Given the description of an element on the screen output the (x, y) to click on. 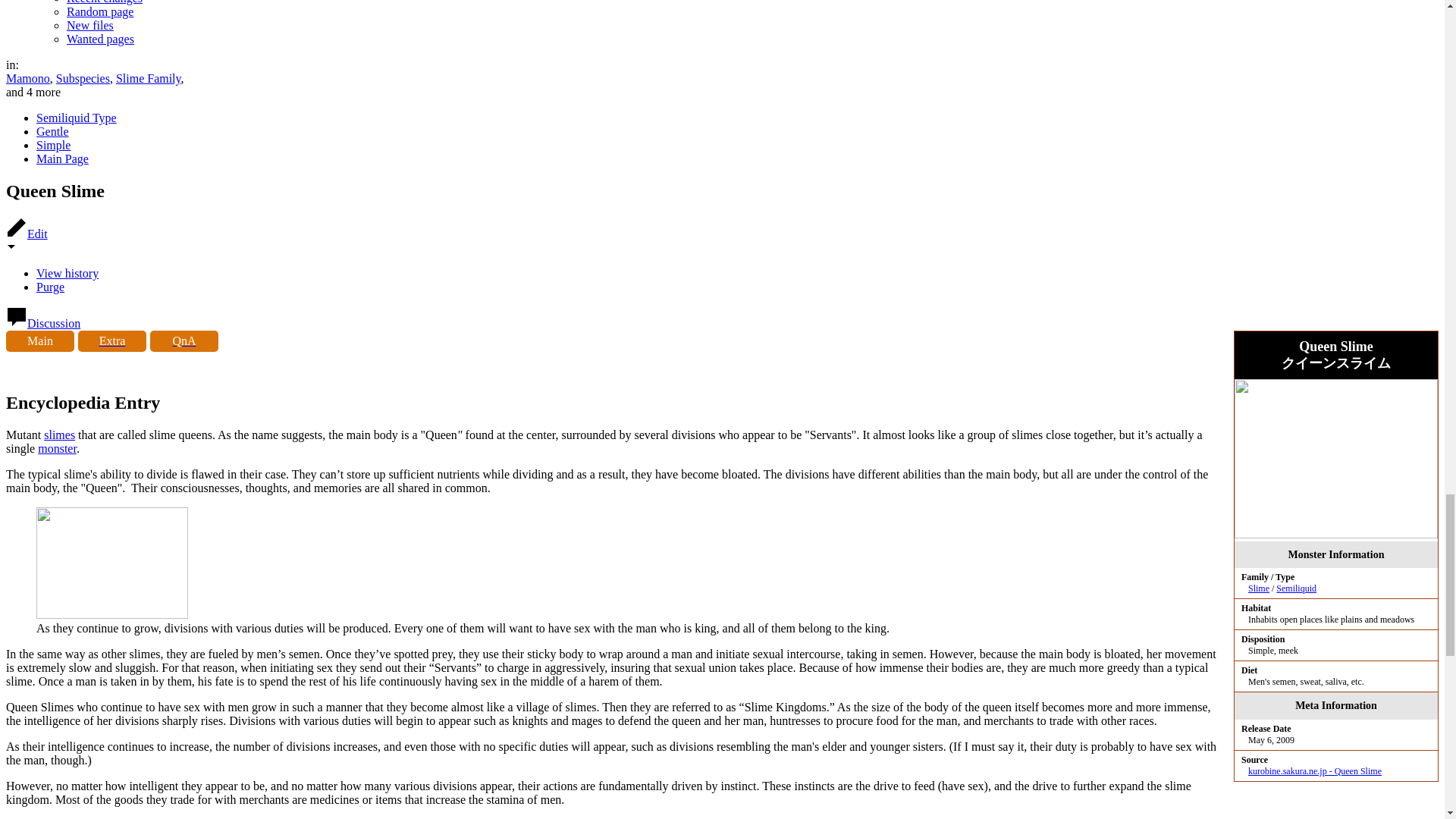
Category:Semiliquid Type (1296, 588)
Category:Slime Family (1258, 588)
